Given the description of an element on the screen output the (x, y) to click on. 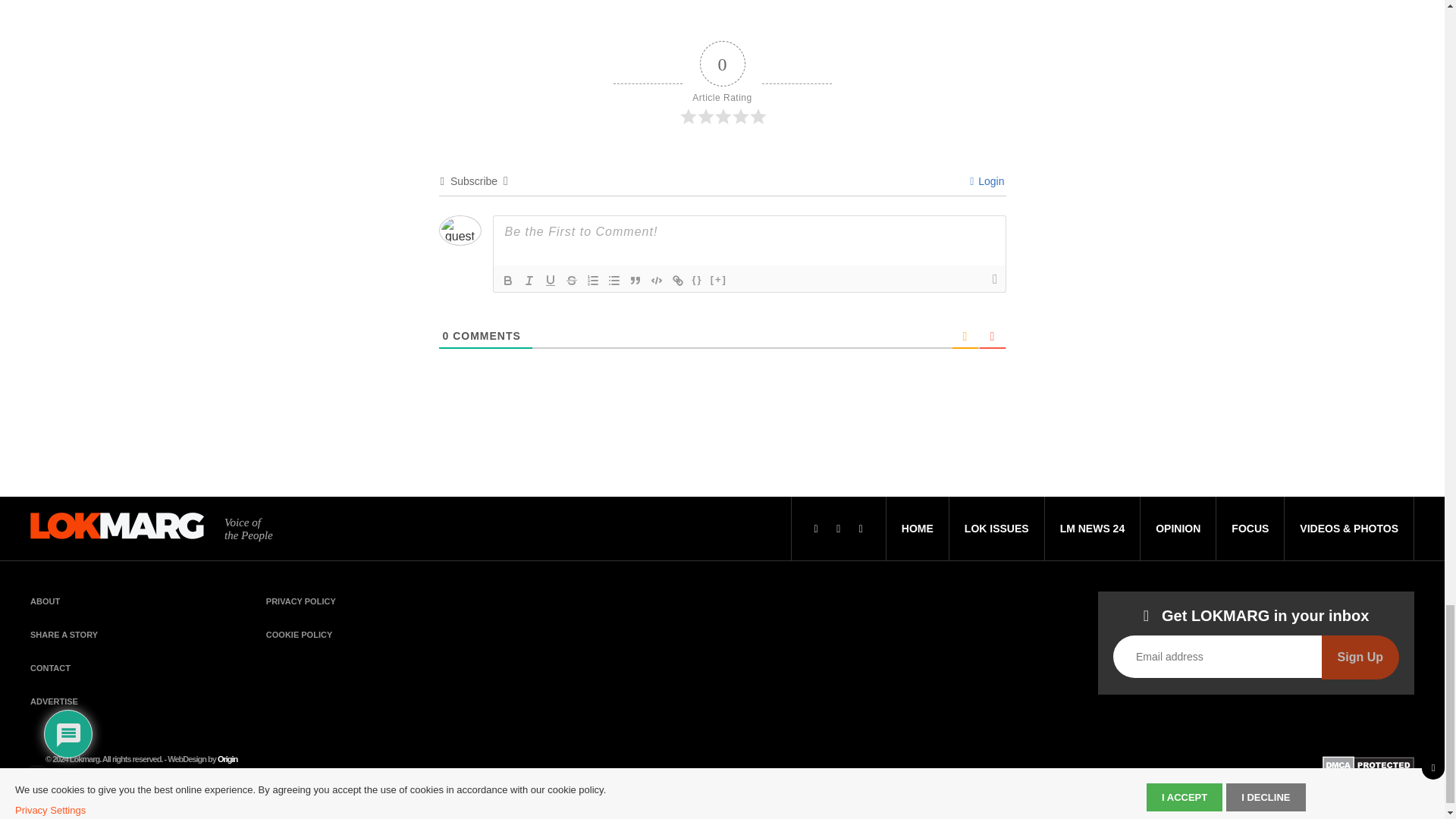
Sign Up (1360, 657)
Login (986, 181)
